Given the description of an element on the screen output the (x, y) to click on. 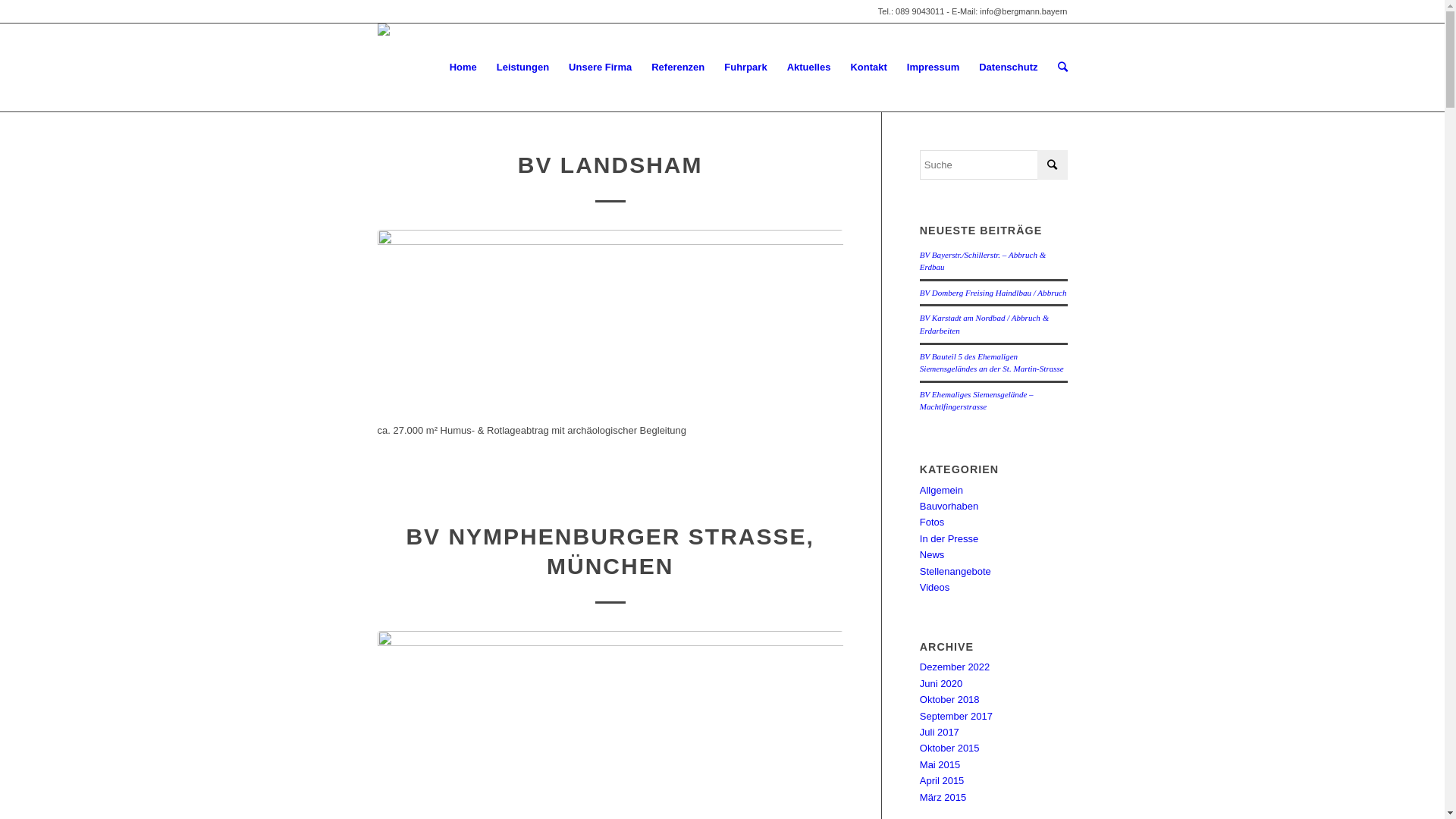
Juli 2017 Element type: text (939, 731)
Mai 2015 Element type: text (939, 764)
BV Landsham Element type: hover (610, 317)
BV Karstadt am Nordbad / Abbruch & Erdarbeiten Element type: text (983, 324)
April 2015 Element type: text (941, 780)
In der Presse Element type: text (948, 538)
BV LANDSHAM Element type: text (609, 164)
Stellenangebote Element type: text (955, 571)
Aktuelles Element type: text (808, 67)
Fuhrpark Element type: text (745, 67)
Juni 2020 Element type: text (940, 683)
News Element type: text (931, 554)
Unsere Firma Element type: text (599, 67)
Oktober 2018 Element type: text (949, 699)
Bauvorhaben Element type: text (948, 505)
September 2017 Element type: text (955, 715)
Leistungen Element type: text (522, 67)
Allgemein Element type: text (941, 489)
Dezember 2022 Element type: text (954, 666)
Kontakt Element type: text (868, 67)
Impressum Element type: text (933, 67)
Datenschutz Element type: text (1008, 67)
Videos Element type: text (934, 587)
Referenzen Element type: text (677, 67)
Home Element type: text (462, 67)
Oktober 2015 Element type: text (949, 747)
Fotos Element type: text (931, 521)
BV Domberg Freising Haindlbau / Abbruch Element type: text (992, 292)
